Given the description of an element on the screen output the (x, y) to click on. 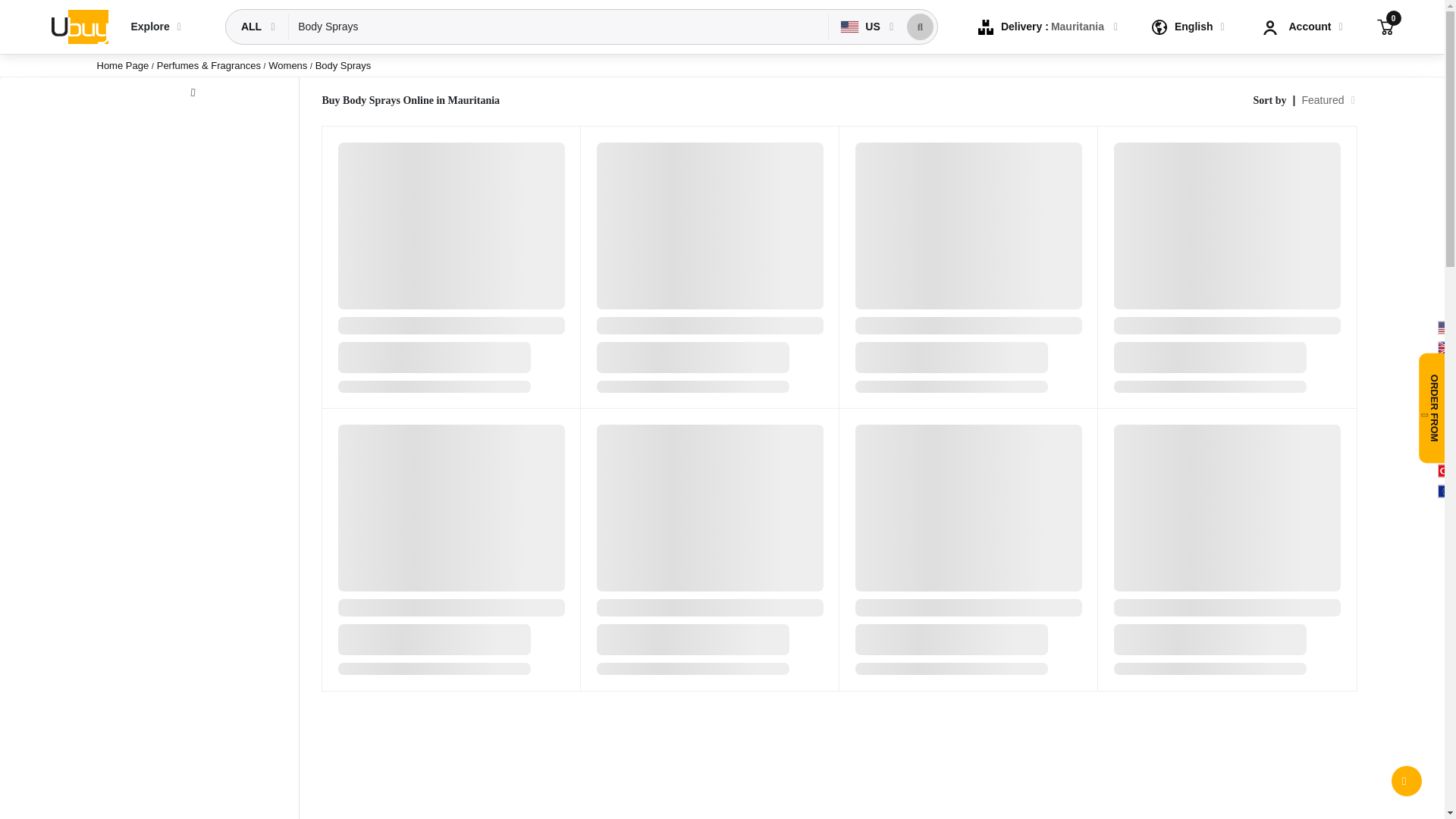
ALL (253, 26)
US (861, 26)
Ubuy (78, 26)
Body Sprays (558, 26)
0 (1385, 26)
